Given the description of an element on the screen output the (x, y) to click on. 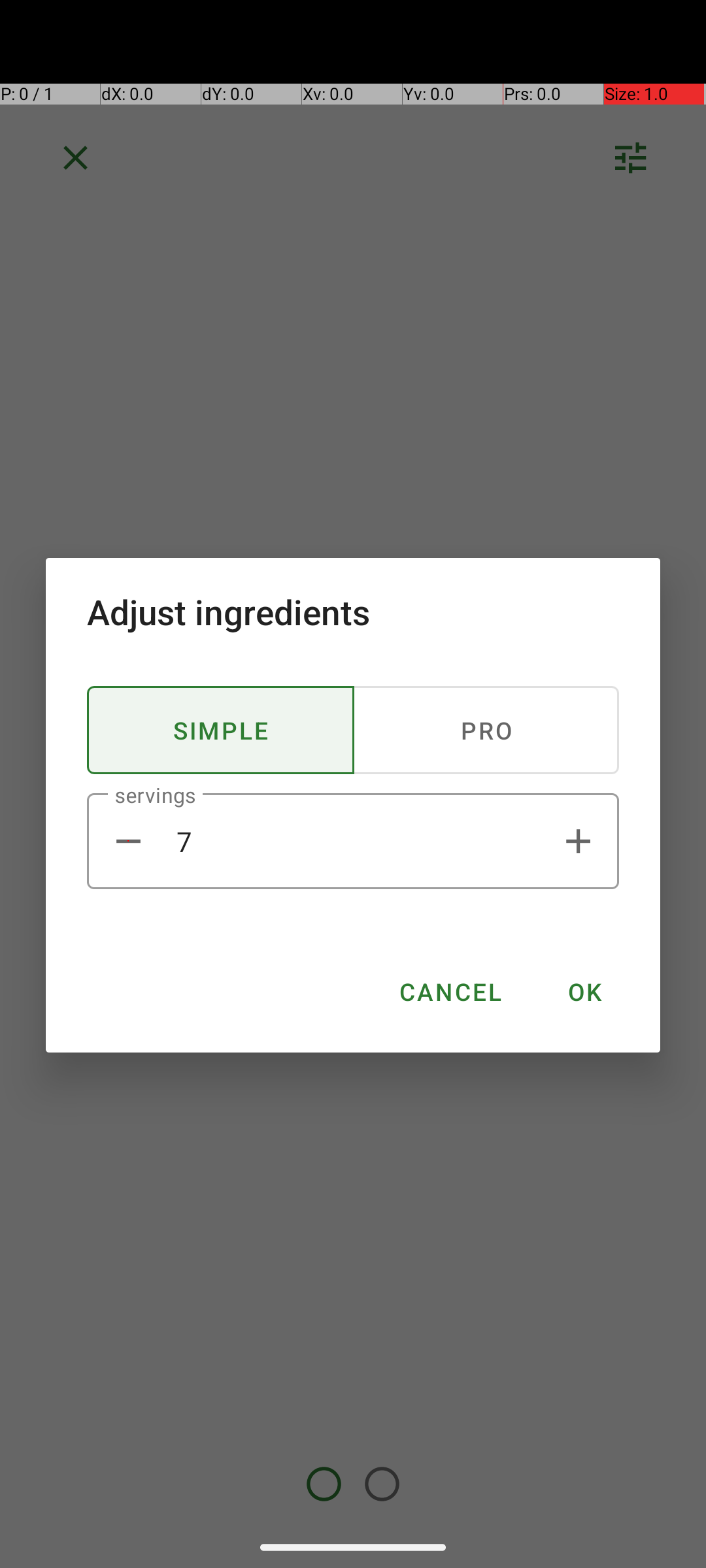
Adjust ingredients Element type: android.widget.TextView (352, 611)
SIMPLE Element type: android.widget.CompoundButton (220, 730)
PRO Element type: android.widget.CompoundButton (485, 730)
